Given the description of an element on the screen output the (x, y) to click on. 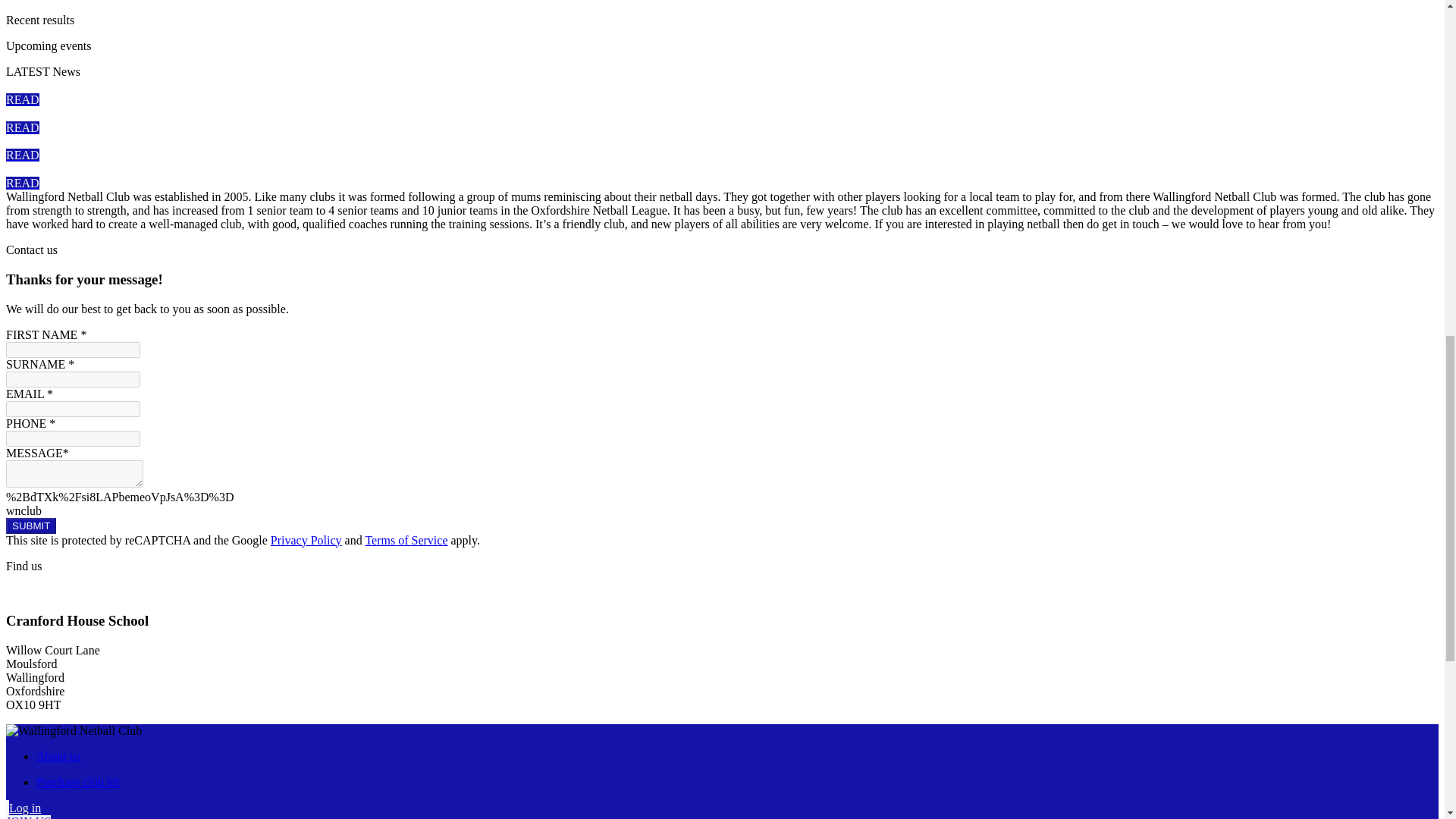
About us (58, 756)
SUBMIT (30, 525)
Privacy Policy (306, 540)
Terms of Service (405, 540)
